Given the description of an element on the screen output the (x, y) to click on. 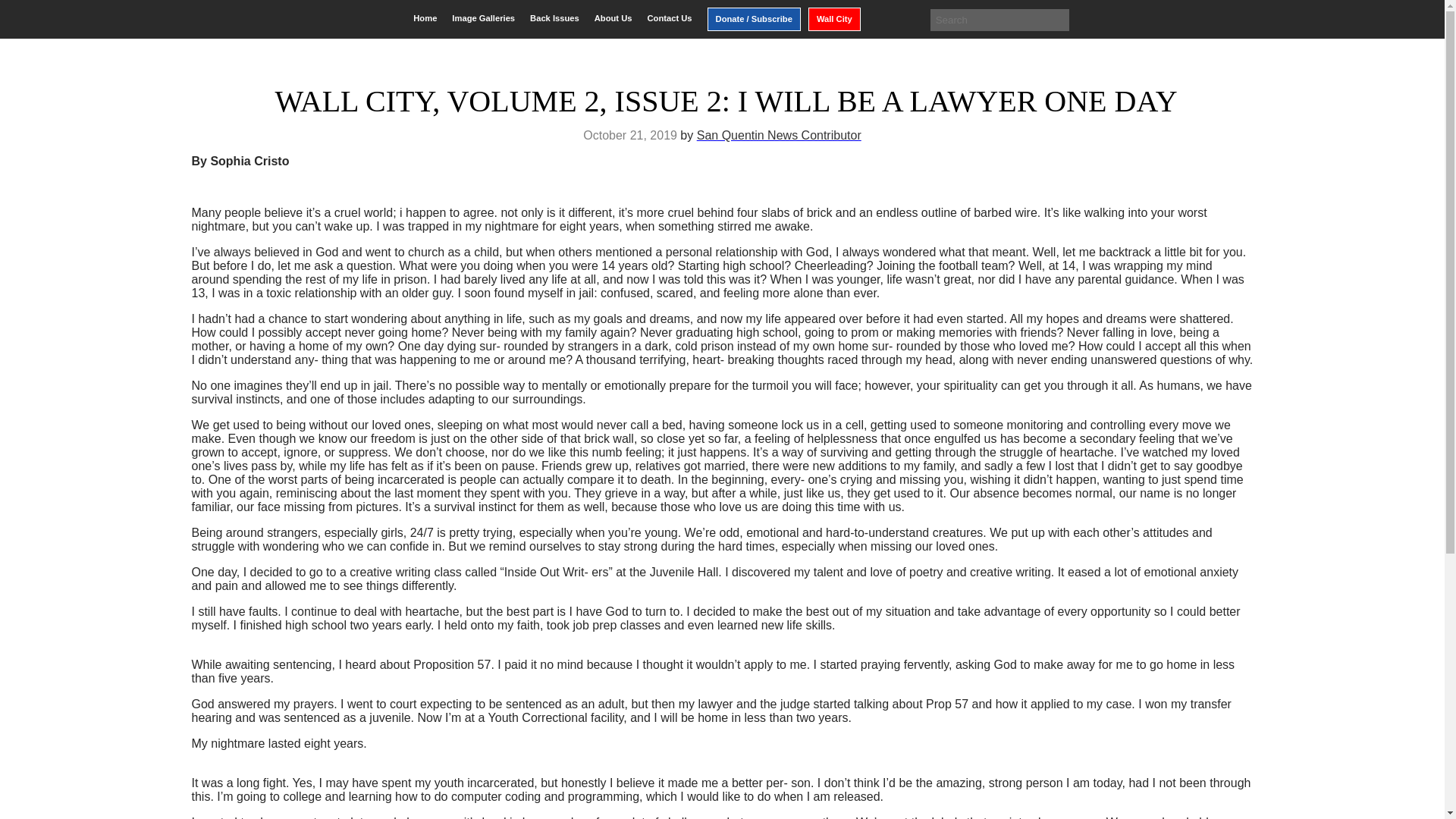
Back Issues (554, 17)
Image Galleries (483, 17)
About Us (612, 17)
Wall City (833, 18)
Contact Us (668, 17)
Search (22, 12)
Home (424, 17)
San Quentin News Contributor (779, 134)
